Given the description of an element on the screen output the (x, y) to click on. 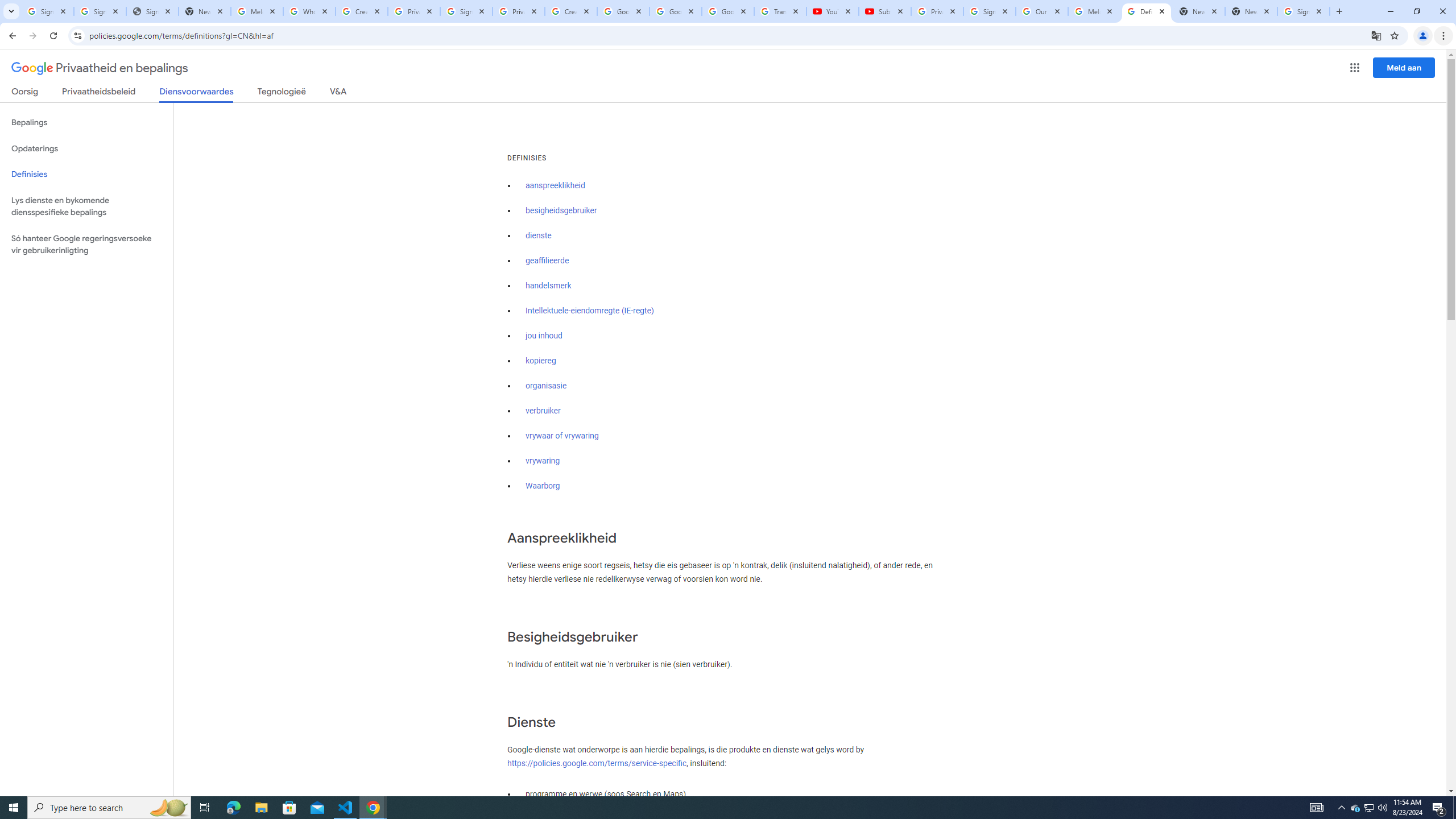
Diensvoorwaardes (196, 94)
Waarborg (542, 486)
vrywaar of vrywaring (561, 435)
Google-programme (1355, 67)
Lys dienste en bykomende diensspesifieke bepalings (86, 206)
